Given the description of an element on the screen output the (x, y) to click on. 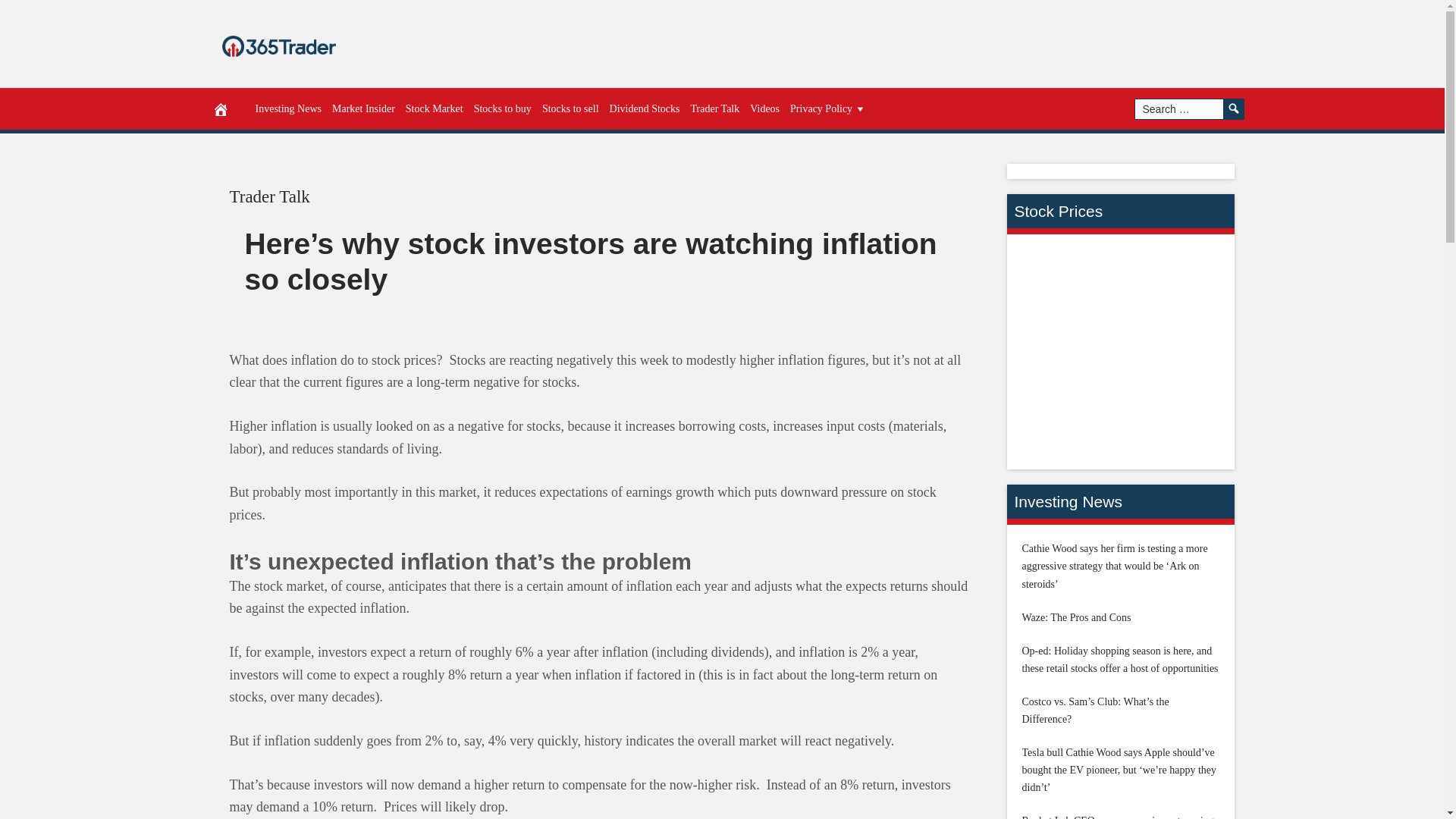
Dividend Stocks (644, 108)
Videos (764, 108)
Trader Talk (268, 196)
Stock Market (434, 108)
Trader Talk (715, 108)
Stocks to sell (570, 108)
Market Insider (363, 108)
Investing News (288, 108)
Waze: The Pros and Cons (1076, 617)
Trader Talk (268, 196)
Privacy Policy (828, 108)
Stocks to buy (502, 108)
